Given the description of an element on the screen output the (x, y) to click on. 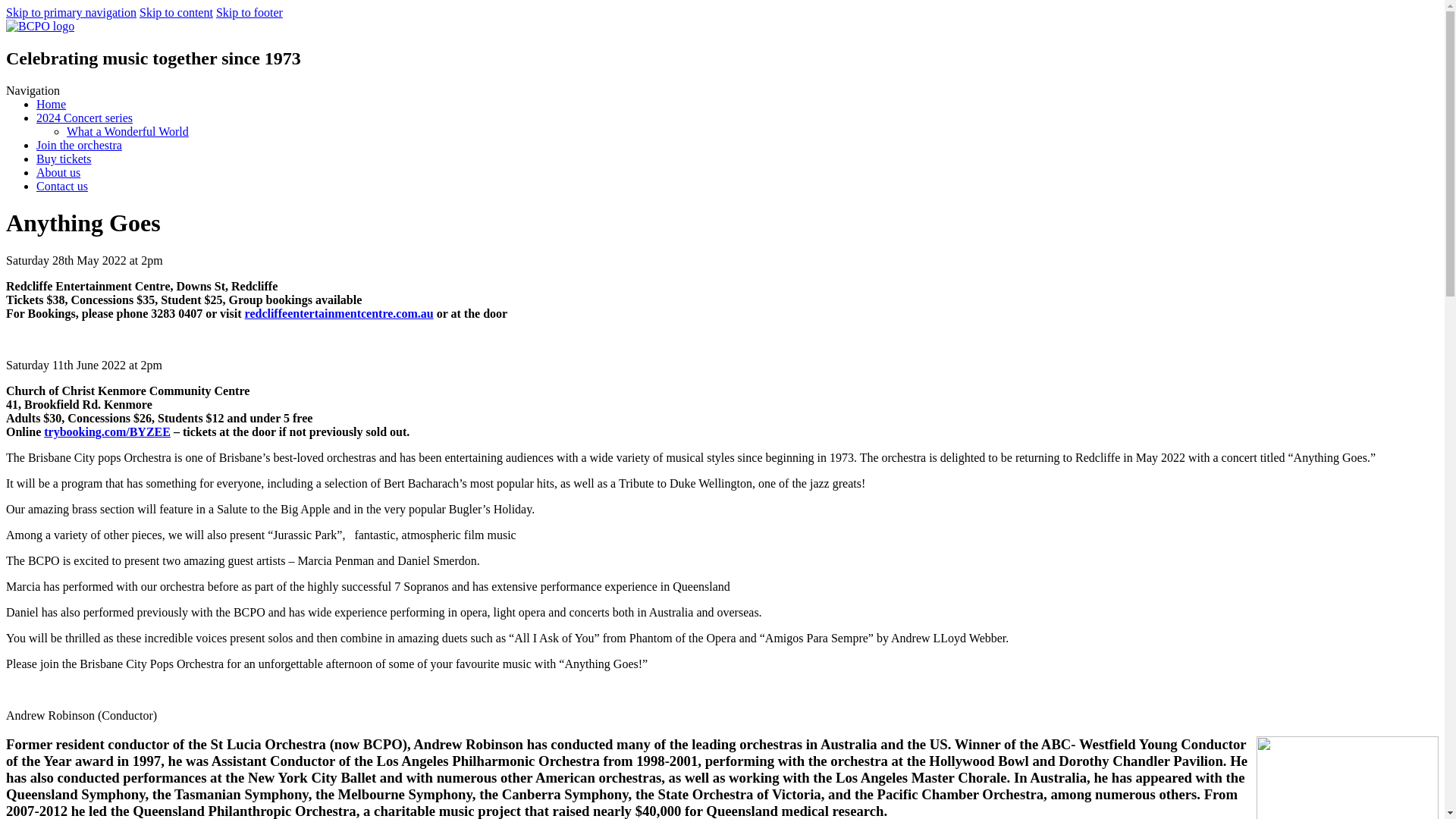
Home Element type: text (50, 103)
Contact us Element type: text (61, 185)
About us Element type: text (58, 172)
2024 Concert series Element type: text (84, 117)
redcliffeentertainmentcentre.com.au Element type: text (338, 313)
What a Wonderful World Element type: text (127, 131)
Buy tickets Element type: text (63, 158)
Skip to footer Element type: text (249, 12)
trybooking.com/BYZEE Element type: text (106, 431)
Join the orchestra Element type: text (79, 144)
Skip to content Element type: text (176, 12)
Skip to primary navigation Element type: text (71, 12)
